Given the description of an element on the screen output the (x, y) to click on. 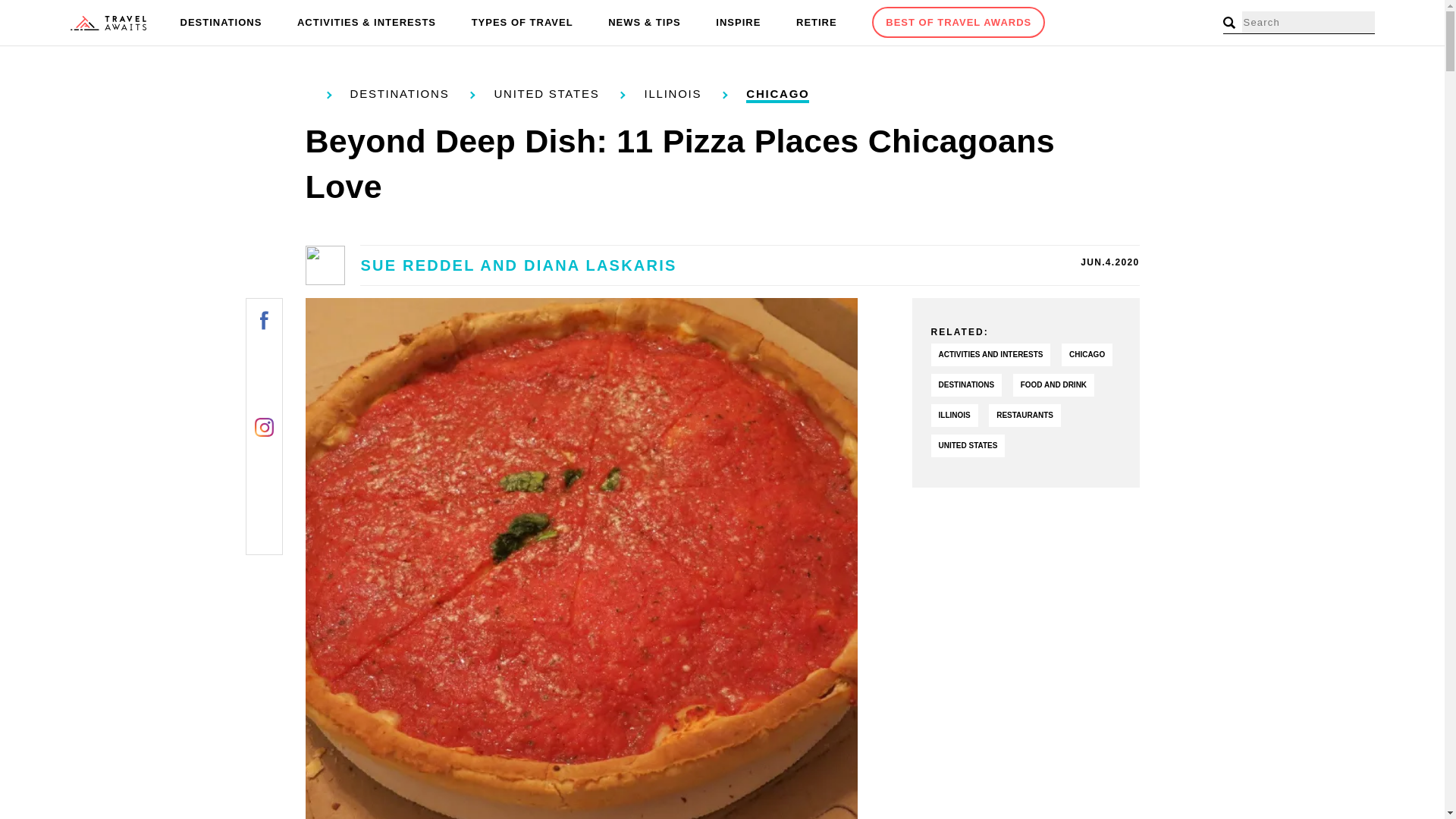
TYPES OF TRAVEL (522, 22)
Email (263, 533)
Twitter (263, 355)
DESTINATIONS (221, 22)
Pinterest (263, 391)
Facebook (263, 320)
TravelAwaits (107, 22)
Print (263, 497)
Instagram (263, 426)
